Given the description of an element on the screen output the (x, y) to click on. 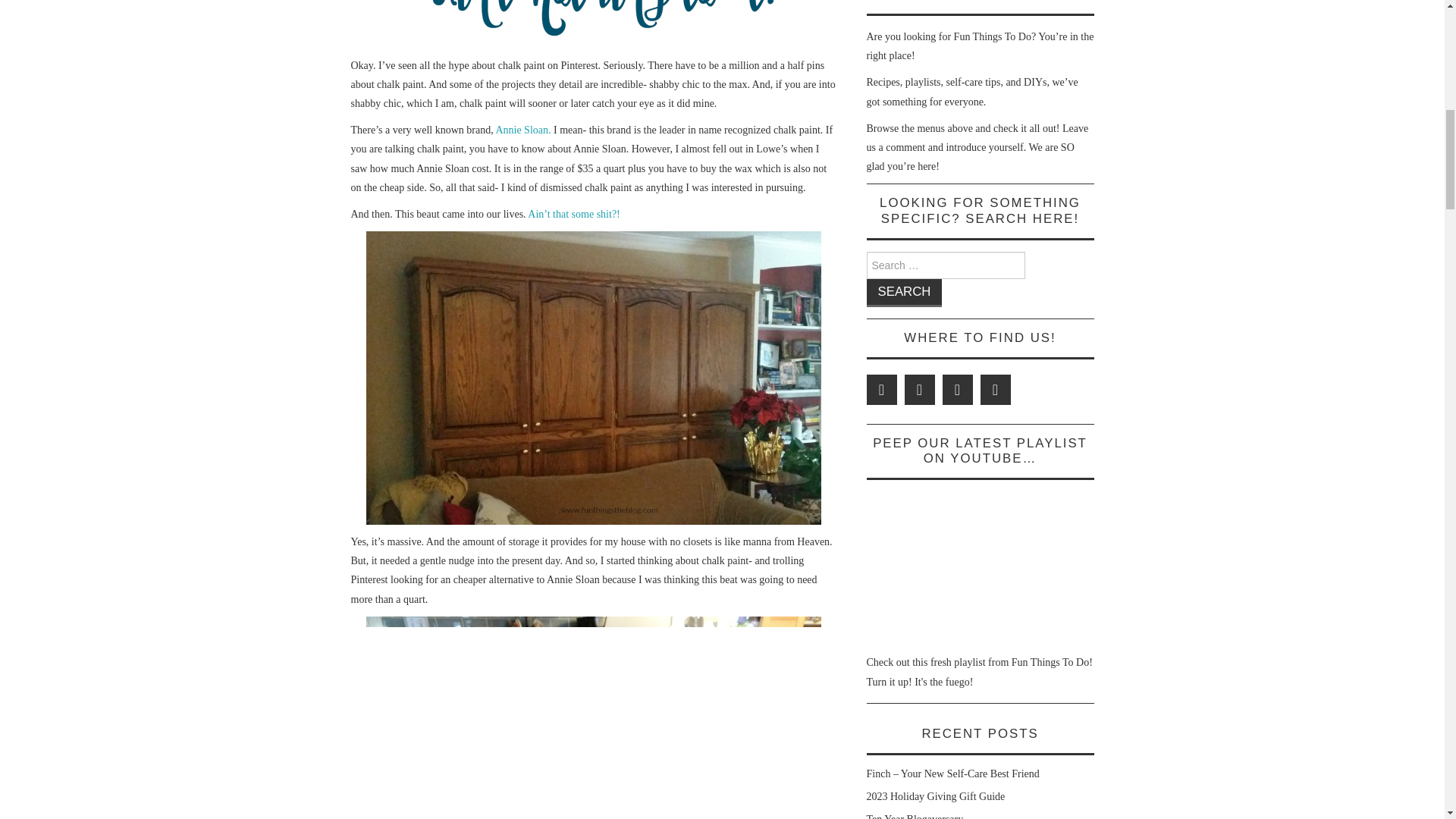
YouTube (994, 389)
Search (904, 293)
Annie Sloan. (522, 129)
Search for: (945, 265)
Pinterest (957, 389)
Search (904, 293)
Facebook (919, 389)
Twitter (881, 389)
Chapter: Spring 2017 (979, 566)
